Given the description of an element on the screen output the (x, y) to click on. 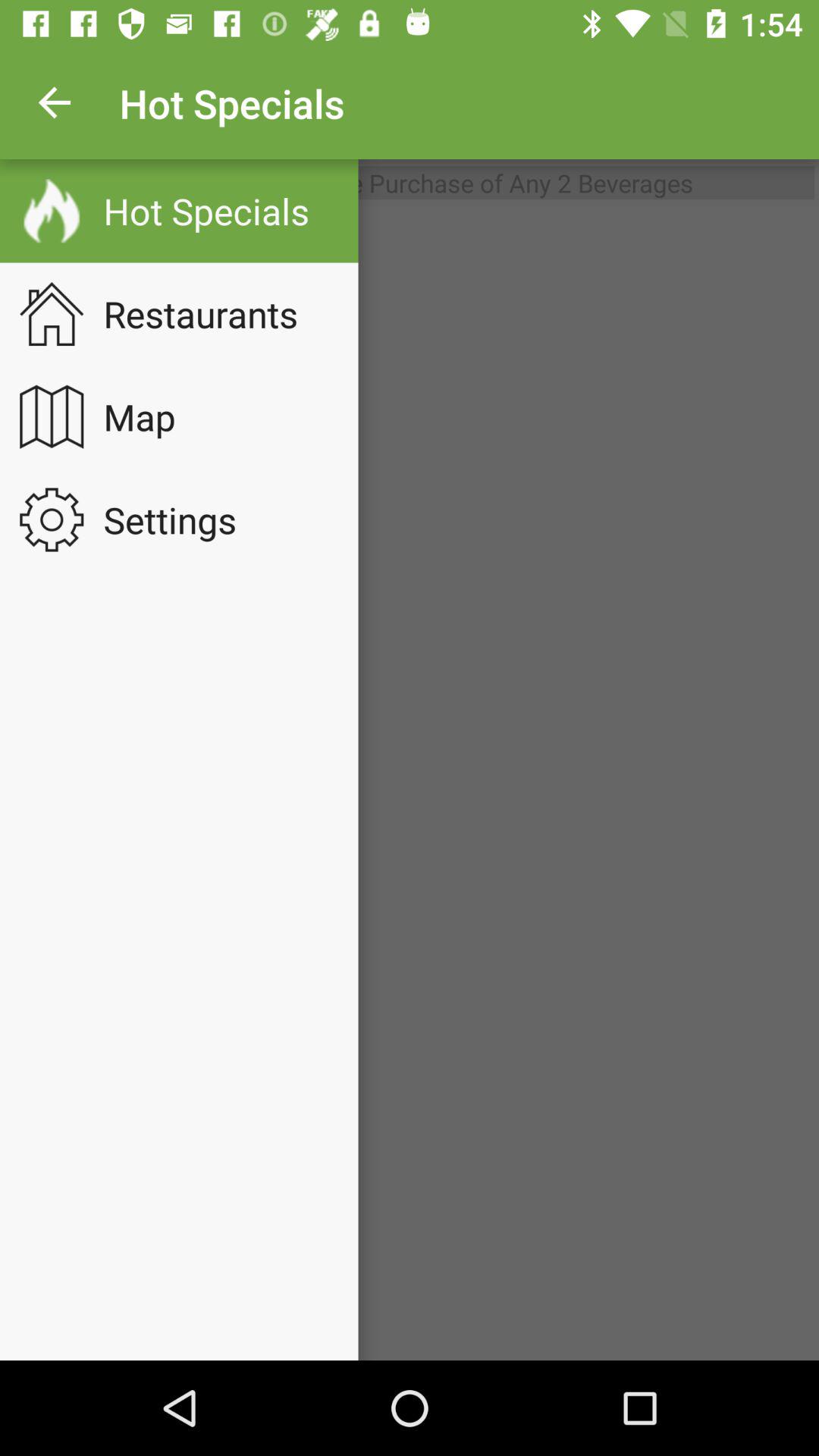
click item below entree bogo with icon (409, 783)
